Given the description of an element on the screen output the (x, y) to click on. 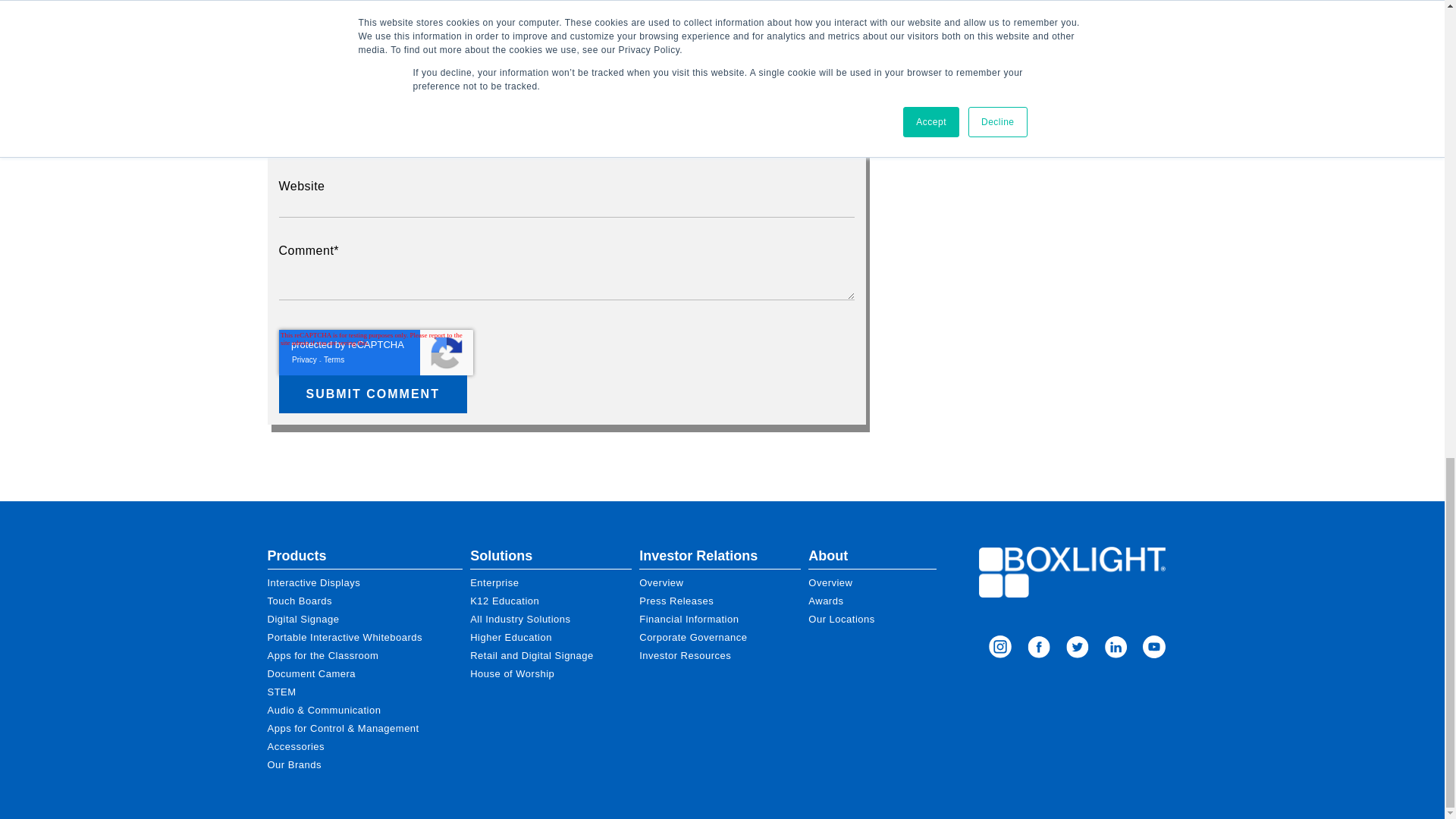
Twitter (1077, 648)
LinkedIn (1154, 648)
Submit Comment (373, 394)
reCAPTCHA (376, 352)
Boxlight (1072, 572)
Instagram (999, 648)
Submit Comment (373, 394)
Facebook (1038, 648)
LinkedIn (1115, 648)
